Given the description of an element on the screen output the (x, y) to click on. 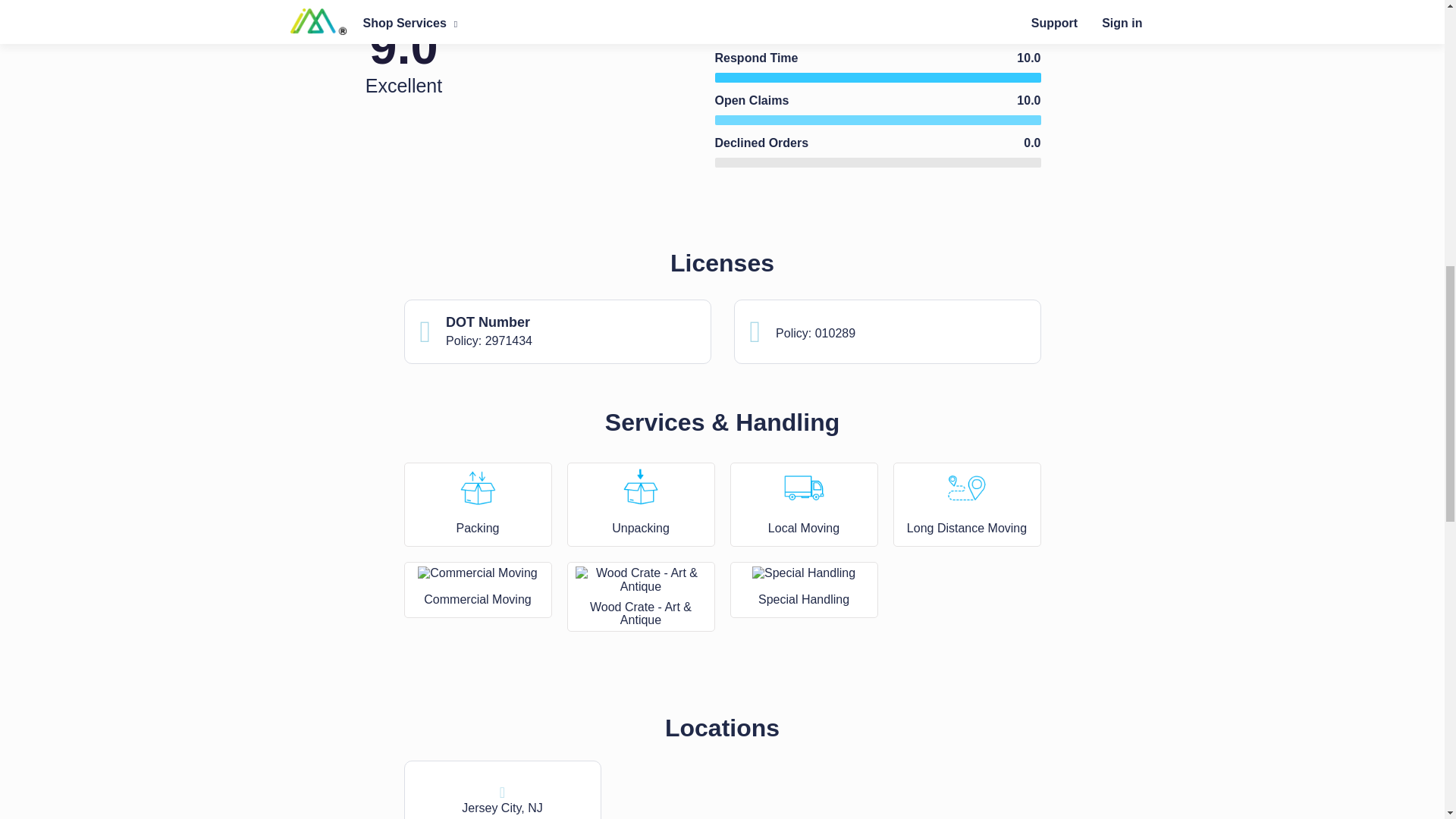
Special Handling (804, 572)
Unpacking (641, 487)
Local Moving (803, 487)
Long Distance Moving (967, 487)
Commercial Moving (477, 572)
Packing (477, 487)
